Given the description of an element on the screen output the (x, y) to click on. 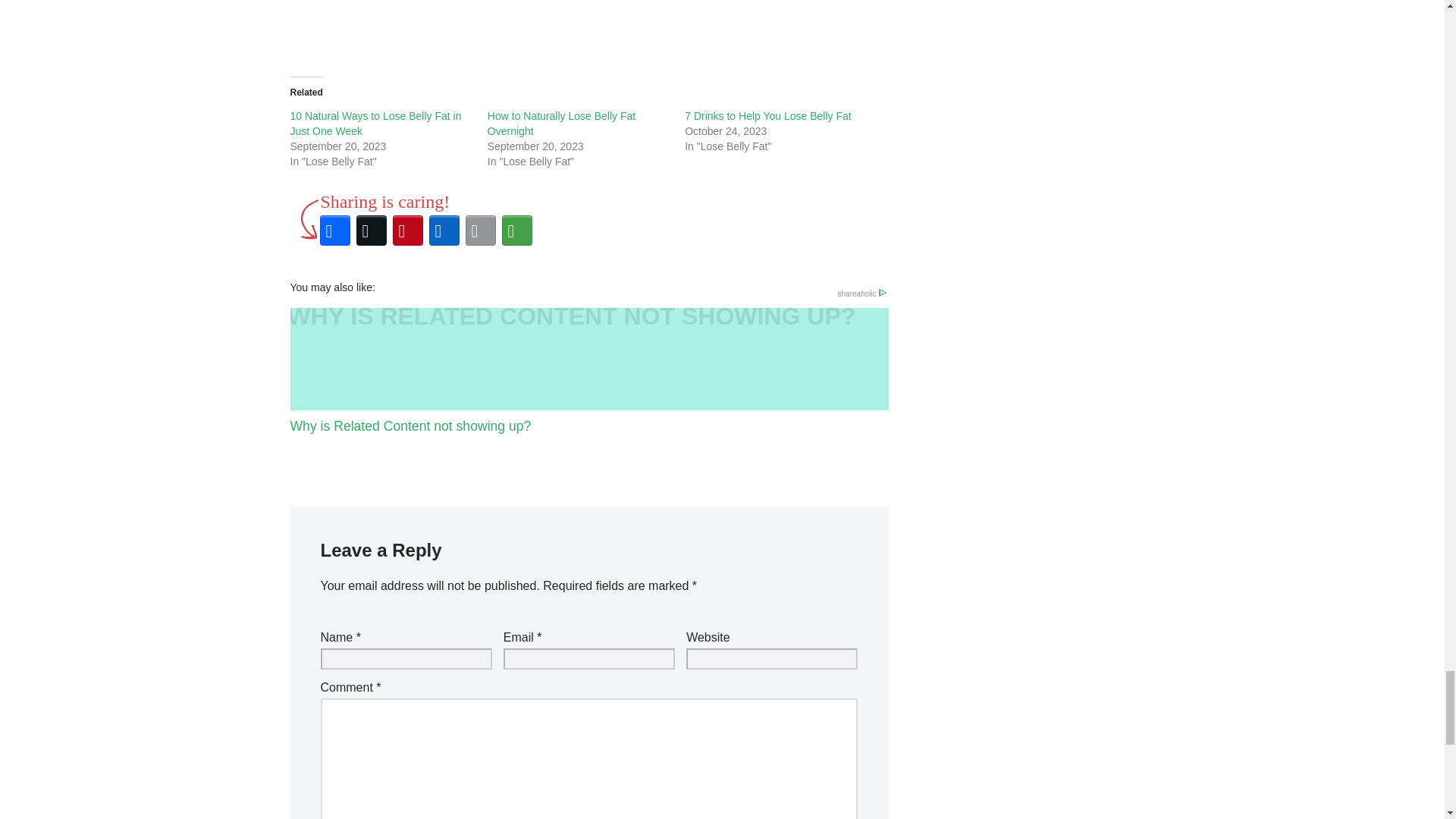
10 Natural Ways to Lose Belly Fat in Just One Week (375, 123)
How to Naturally Lose Belly Fat Overnight (560, 123)
7 Drinks to Help You Lose Belly Fat (767, 115)
